Given the description of an element on the screen output the (x, y) to click on. 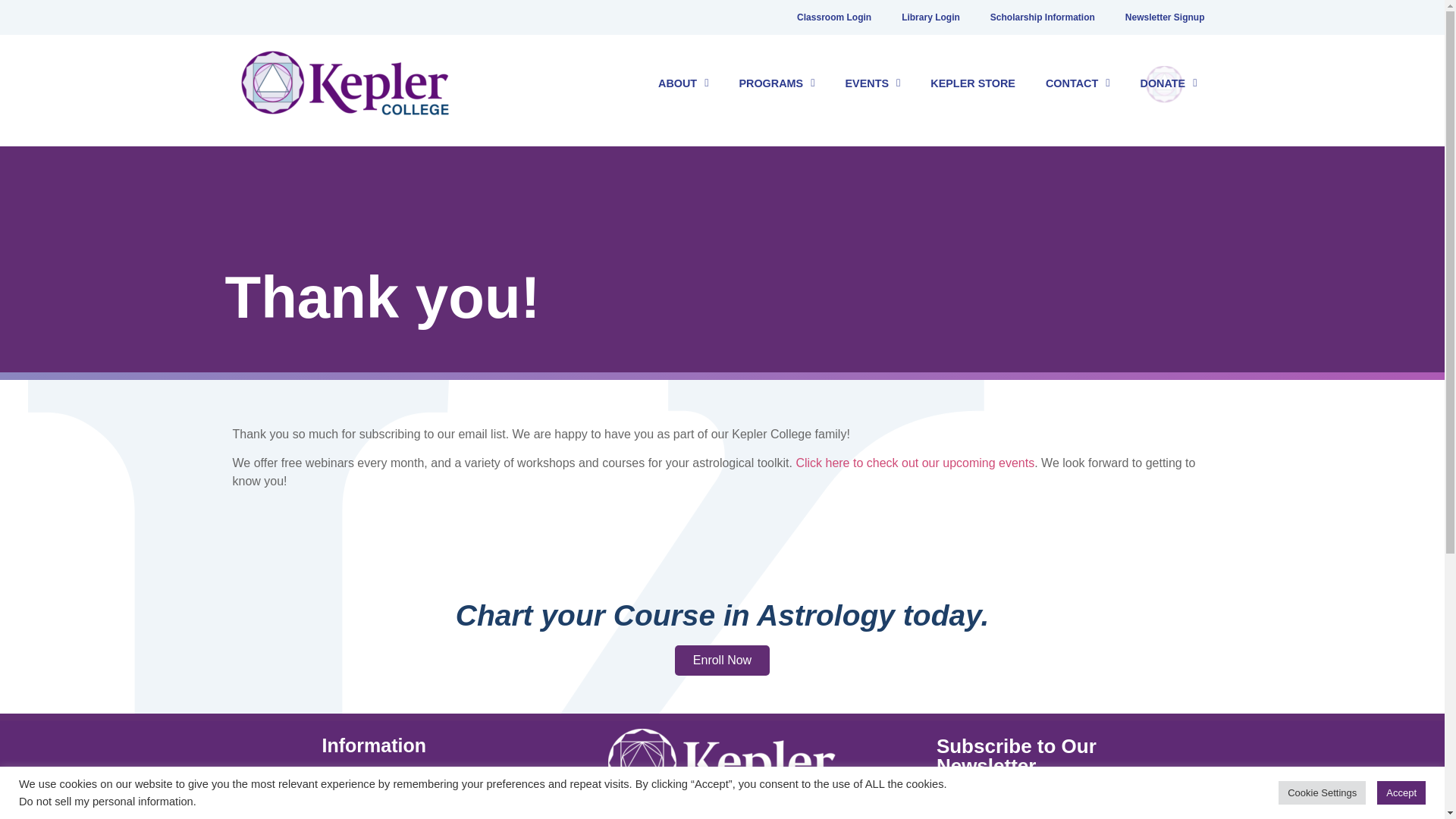
PROGRAMS (776, 82)
Newsletter Signup (1164, 17)
Library Login (930, 17)
Classroom Login (833, 17)
ABOUT (683, 82)
CONTACT (1077, 82)
Scholarship Information (1042, 17)
EVENTS (872, 82)
KEPLER STORE (972, 82)
DONATE (1168, 82)
